Given the description of an element on the screen output the (x, y) to click on. 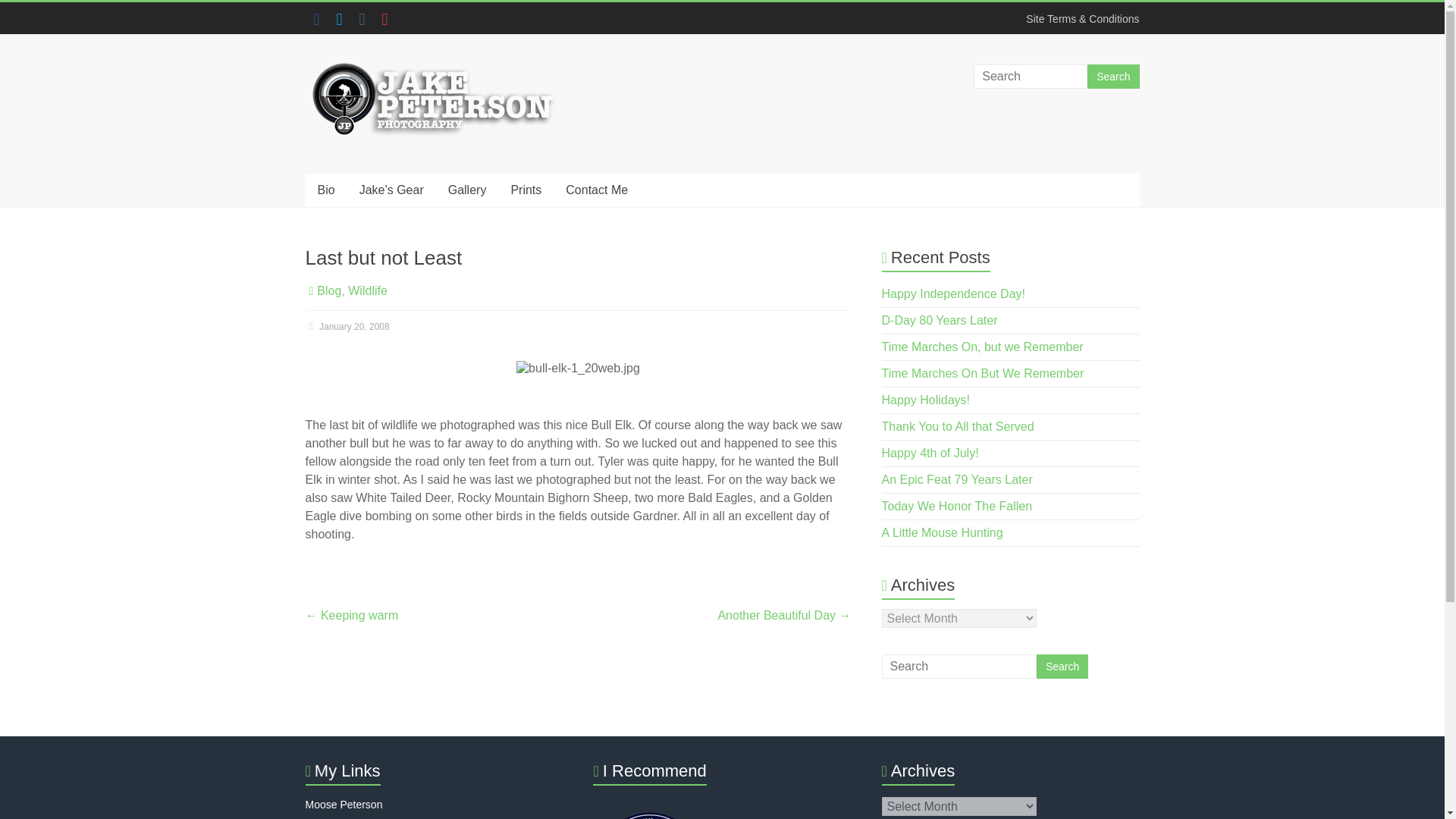
10:16 pm (346, 326)
Search (1112, 76)
Today We Honor The Fallen (957, 505)
Blog (328, 290)
January 20, 2008 (346, 326)
Bio (325, 190)
Gallery (467, 190)
Moose Peterson (342, 804)
A Little Mouse Hunting (942, 532)
Contact Me (596, 190)
Happy Holidays! (926, 399)
Time Marches On But We Remember (983, 373)
An Epic Feat 79 Years Later (957, 479)
Happy 4th of July! (930, 452)
Search (1061, 666)
